Given the description of an element on the screen output the (x, y) to click on. 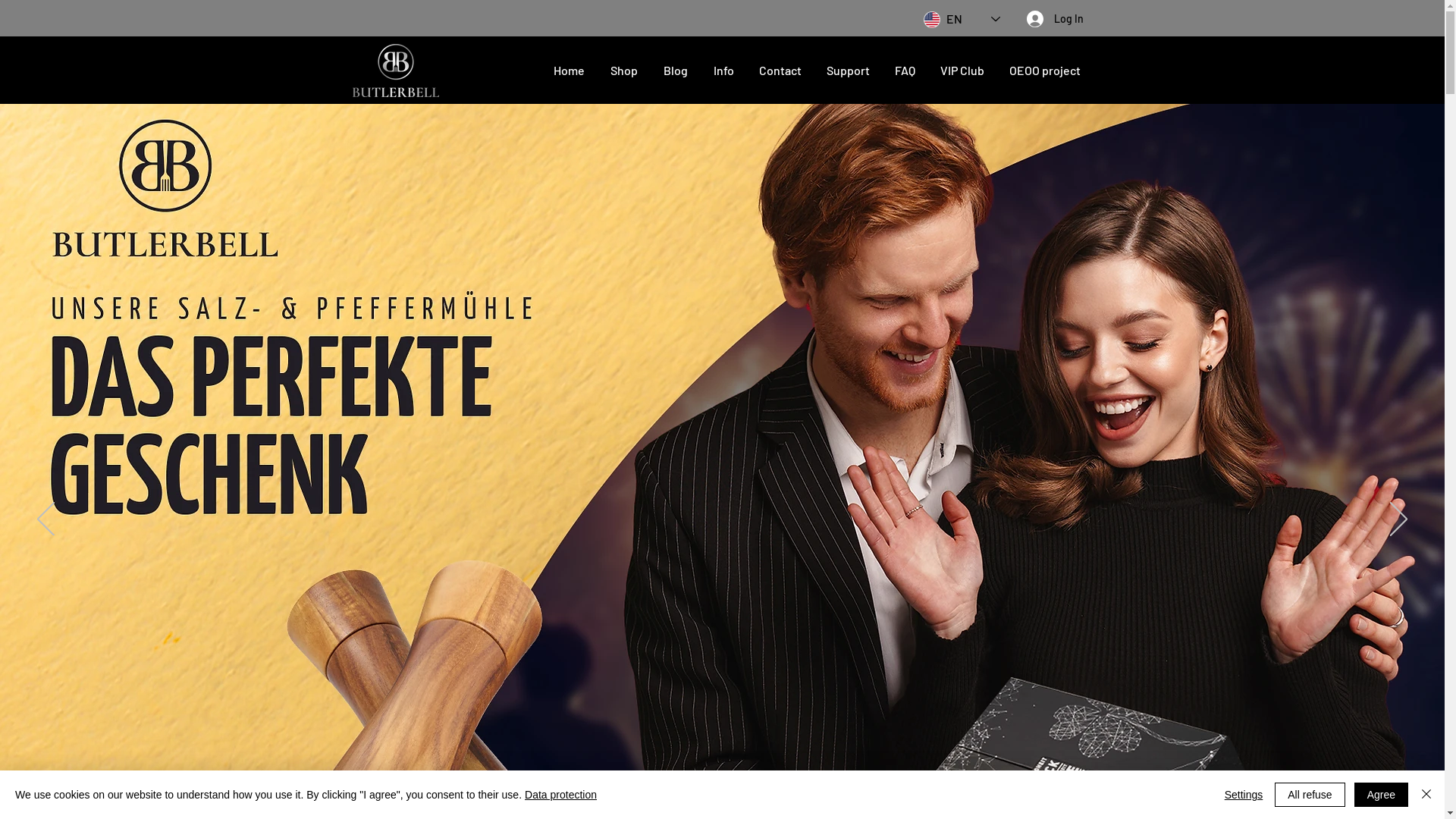
Contact Element type: text (779, 70)
Info Element type: text (723, 70)
All refuse Element type: text (1309, 794)
Agree Element type: text (1381, 794)
Shop Element type: text (623, 70)
OEOO project Element type: text (1044, 70)
Data protection Element type: text (560, 794)
VIP Club Element type: text (962, 70)
FAQ Element type: text (905, 70)
Blog Element type: text (675, 70)
Log In Element type: text (1055, 18)
Home Element type: text (567, 70)
Support Element type: text (848, 70)
